Given the description of an element on the screen output the (x, y) to click on. 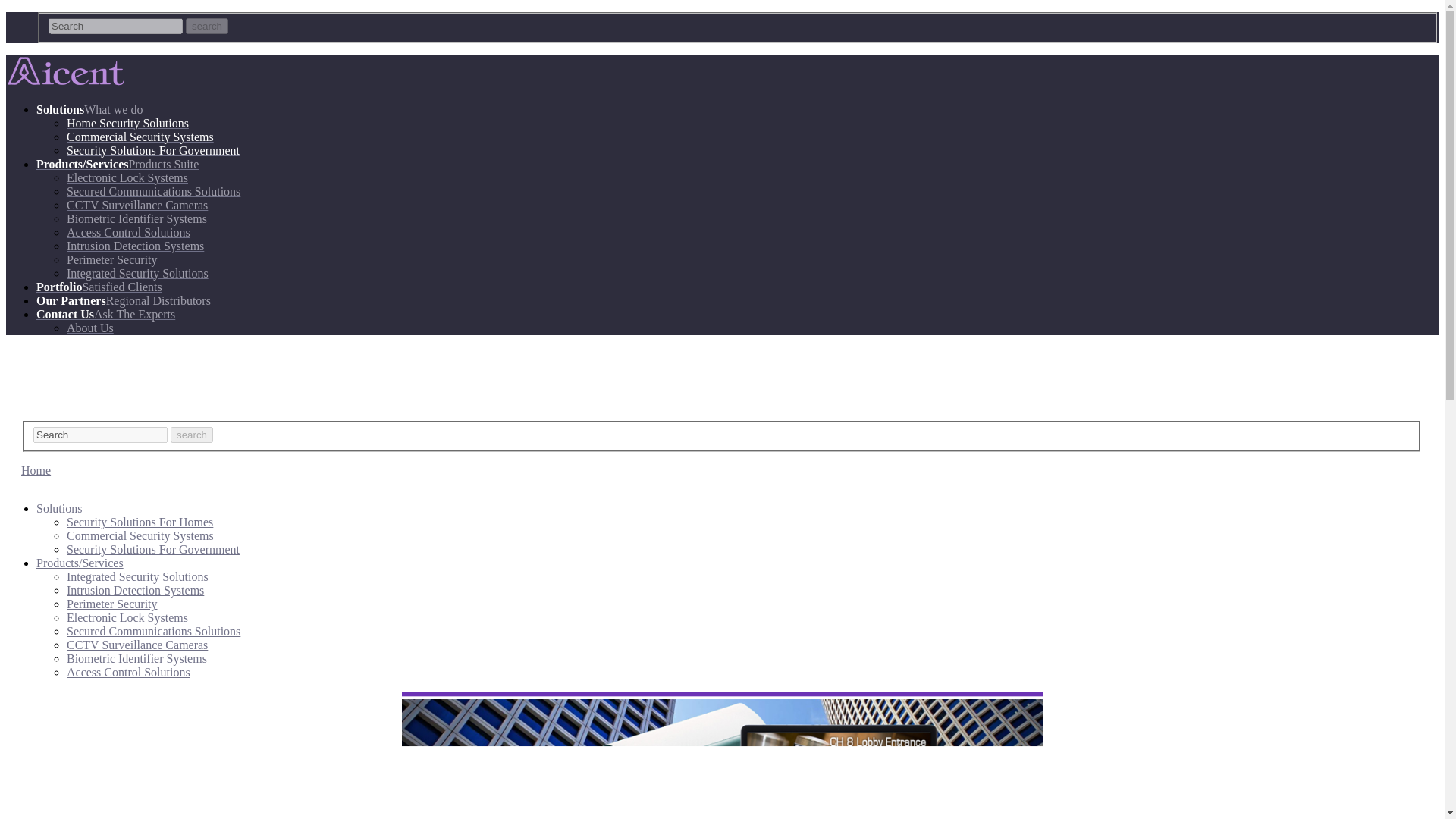
Security Solutions For Government (153, 549)
Home (35, 470)
Perimeter Security (111, 259)
Commercial Security Systems (140, 136)
search (207, 26)
Access Control Solutions (128, 671)
search (191, 434)
About Us (89, 327)
Our PartnersRegional Distributors (123, 300)
Integrated Security Solutions (137, 576)
